Given the description of an element on the screen output the (x, y) to click on. 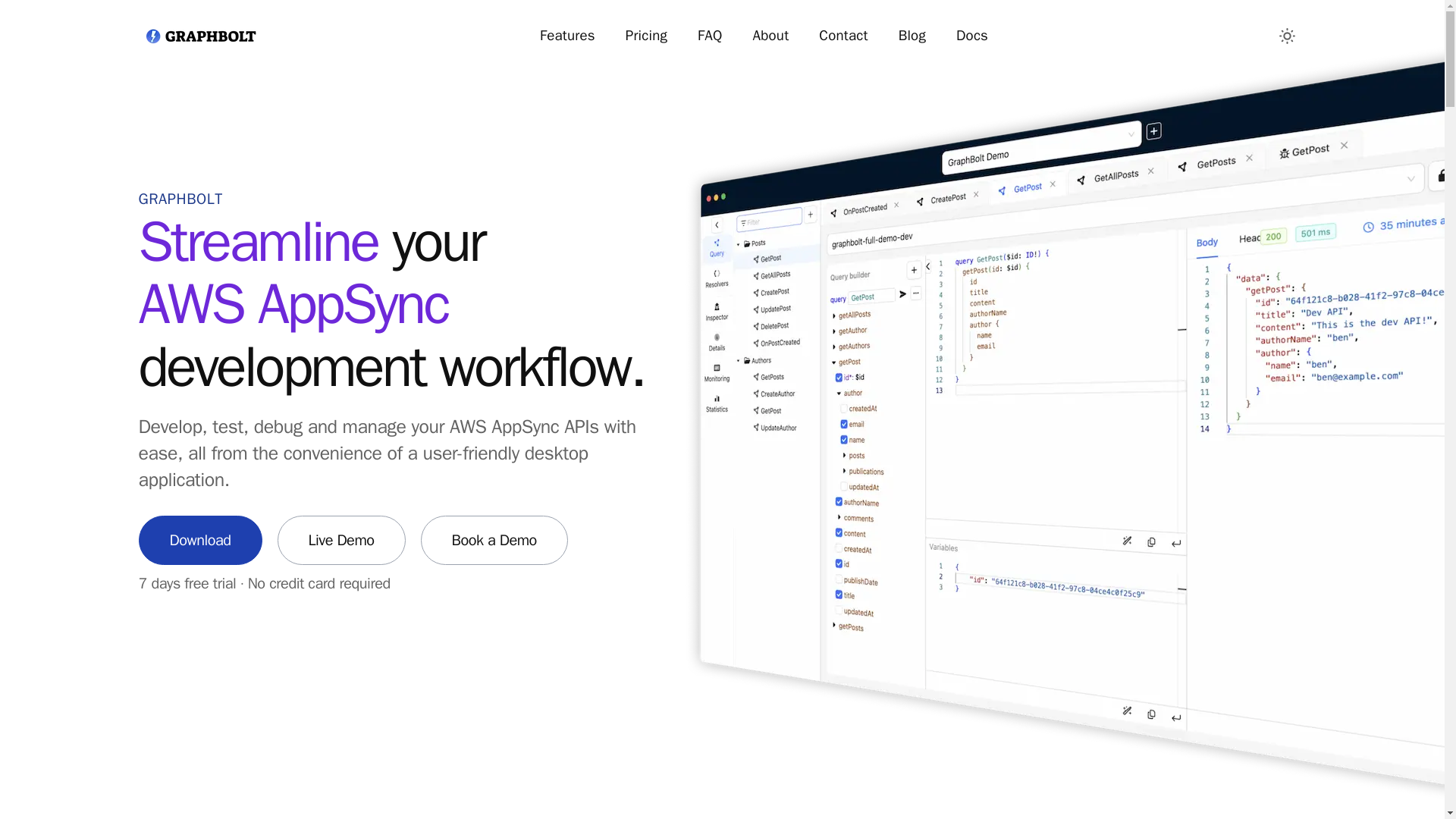
Pricing (646, 35)
FAQ (709, 35)
Book a Demo (493, 540)
Download (200, 540)
About (771, 35)
Blog (911, 35)
Live Demo (342, 540)
Features (567, 35)
Contact (842, 35)
Docs (971, 35)
